Given the description of an element on the screen output the (x, y) to click on. 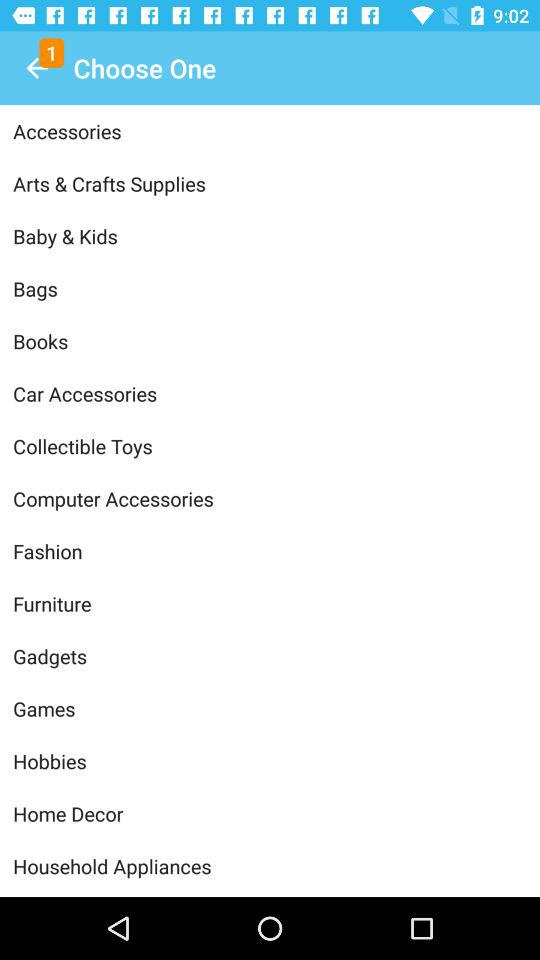
choose the item next to choose one (36, 68)
